Given the description of an element on the screen output the (x, y) to click on. 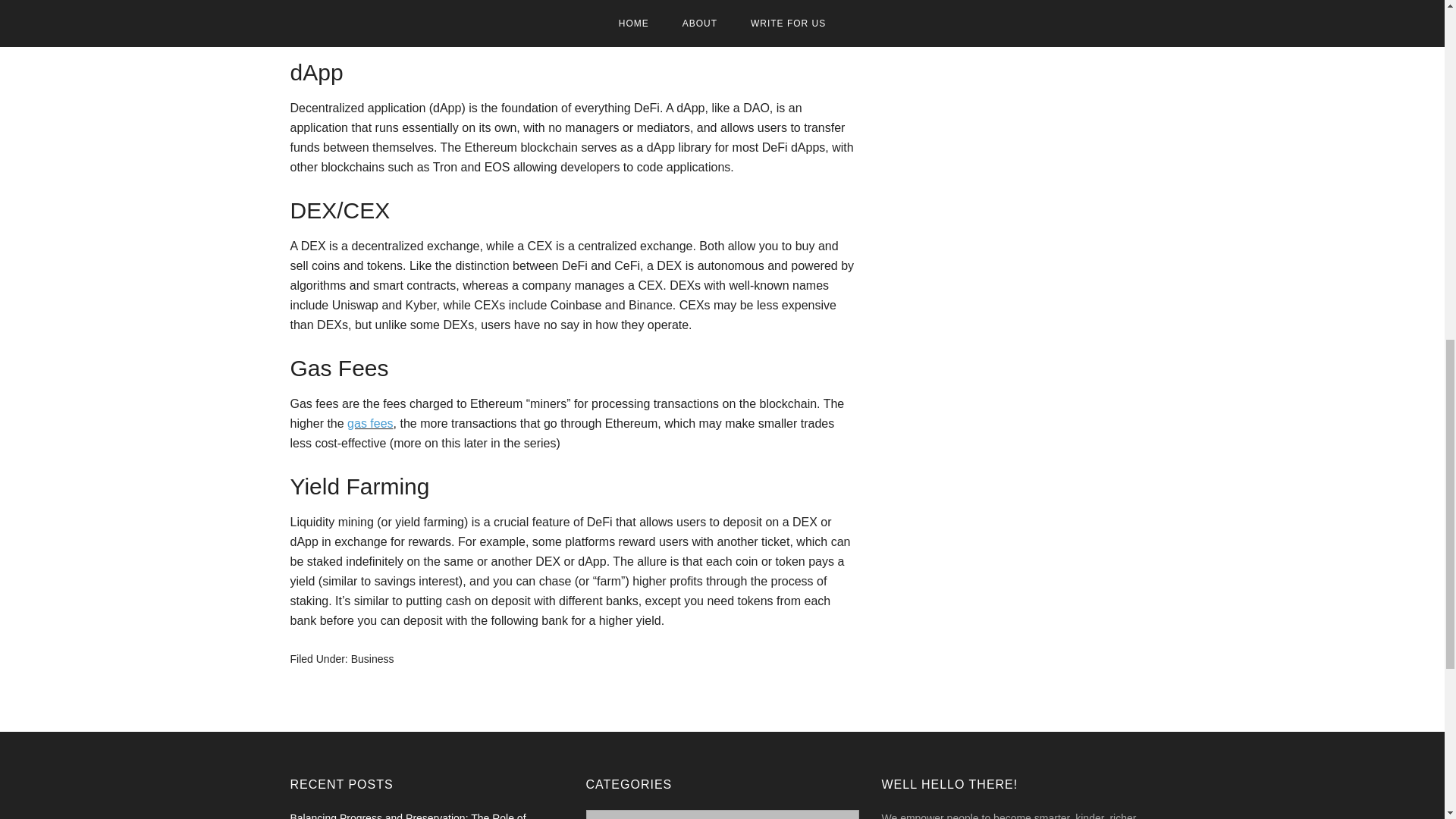
gas fees (370, 422)
Business (372, 658)
